Given the description of an element on the screen output the (x, y) to click on. 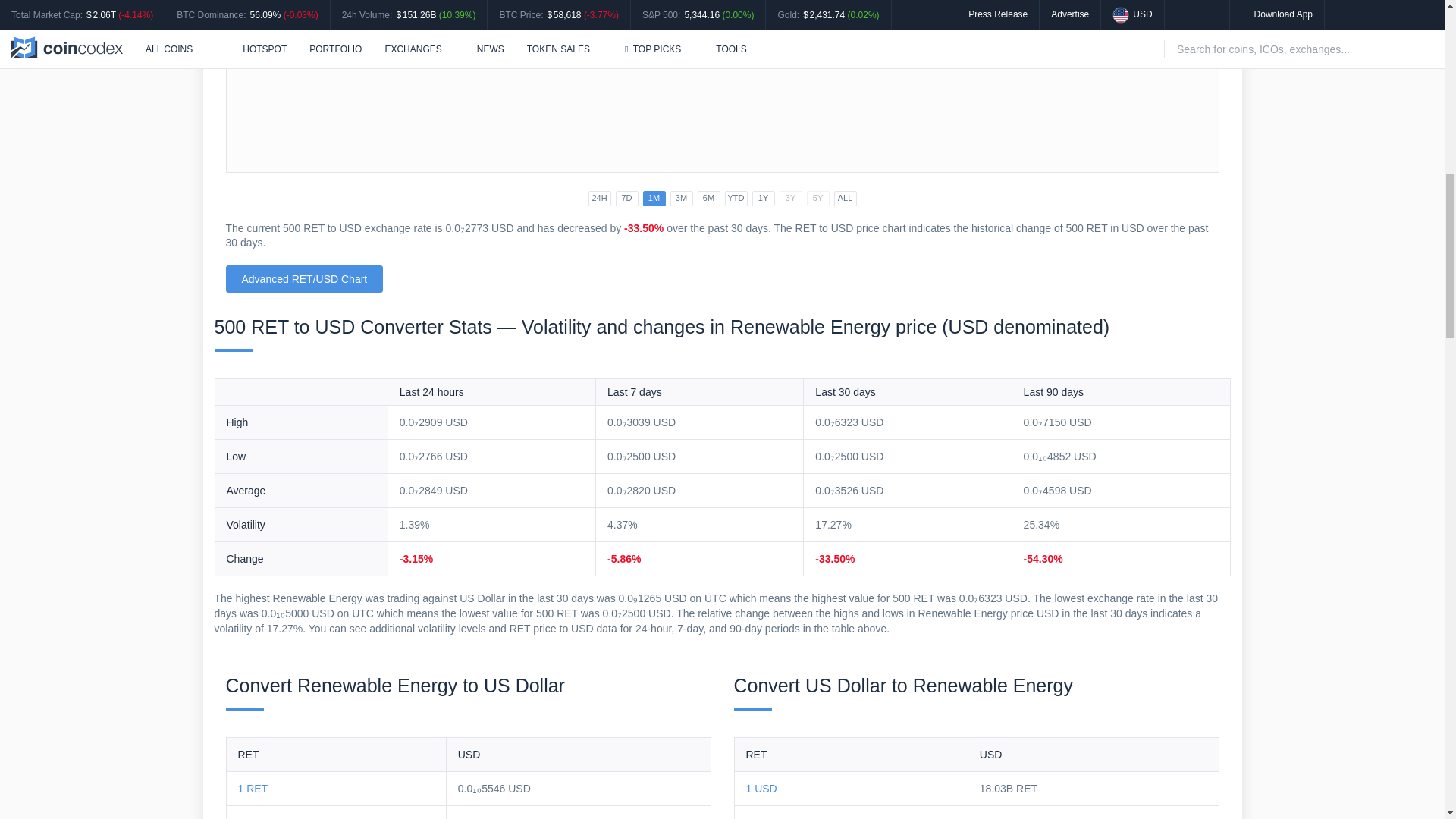
1 USD (761, 788)
5 USD (761, 817)
5 RET (252, 817)
1 RET (252, 788)
